Given the description of an element on the screen output the (x, y) to click on. 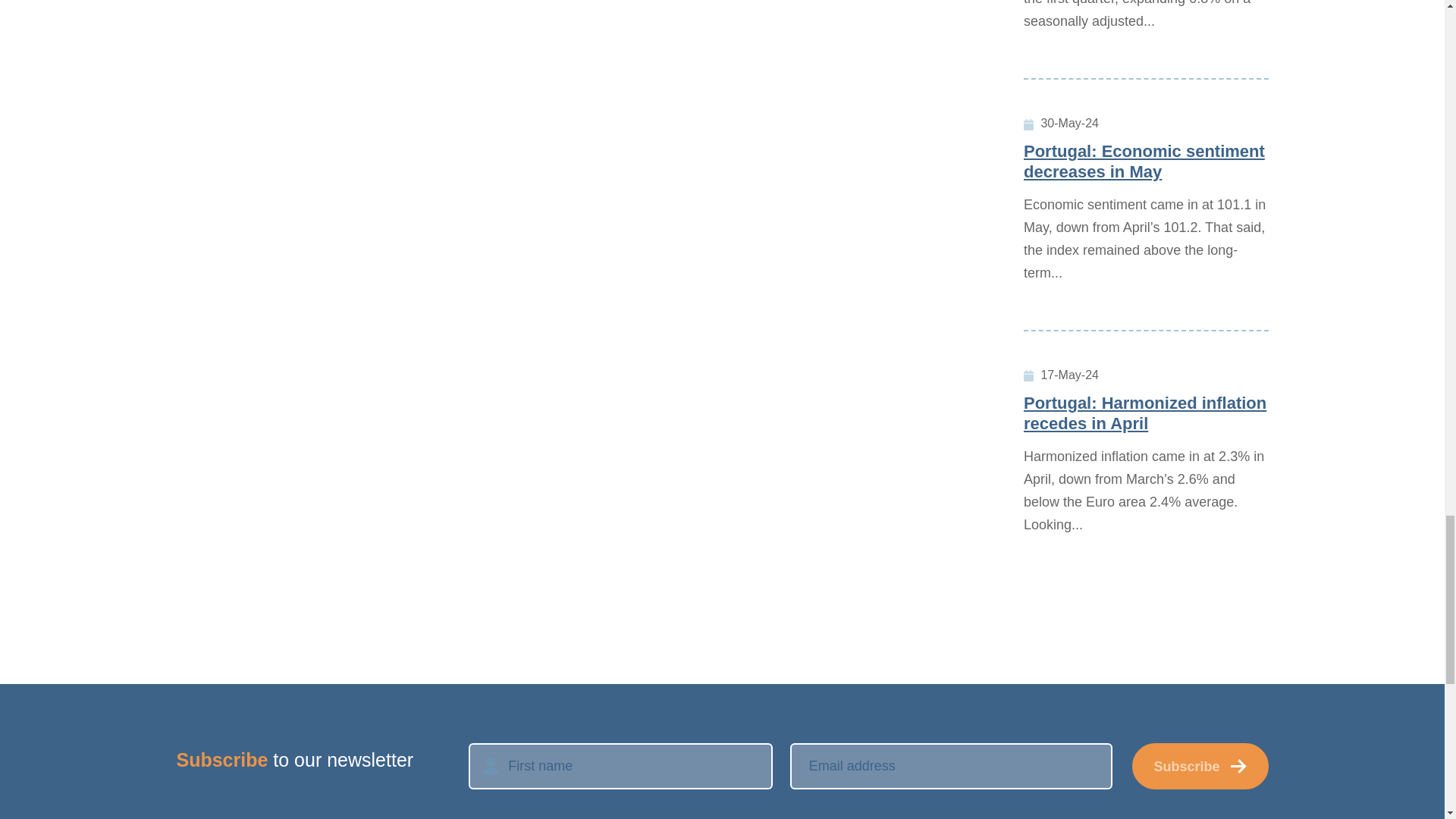
Subscribe (1200, 765)
